Given the description of an element on the screen output the (x, y) to click on. 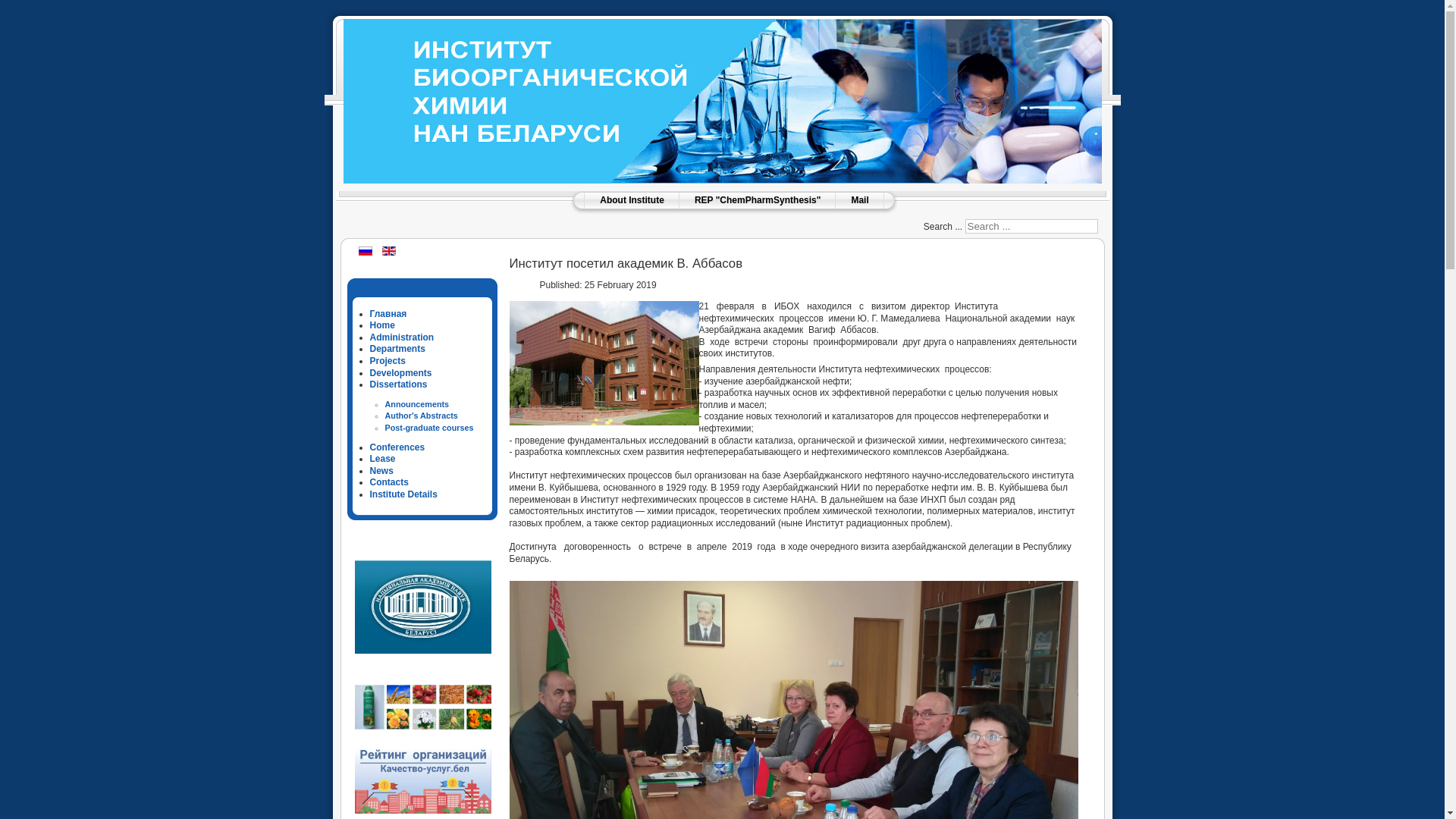
Post-graduate courses Element type: text (429, 427)
Dissertations Element type: text (398, 384)
Announcements Element type: text (417, 403)
English (United Kingdom) Element type: hover (388, 250)
Lease Element type: text (382, 458)
Conferences Element type: text (397, 447)
Administration Element type: text (402, 337)
Institute Details Element type: text (403, 494)
Home Element type: text (382, 325)
REP "ChemPharmSynthesis" Element type: text (757, 200)
News Element type: text (381, 470)
Developments Element type: text (401, 372)
About Institute Element type: text (631, 200)
Projects Element type: text (387, 360)
Departments Element type: text (397, 348)
Author's Abstracts Element type: text (421, 415)
Mail Element type: text (859, 200)
Contacts Element type: text (389, 481)
